Given the description of an element on the screen output the (x, y) to click on. 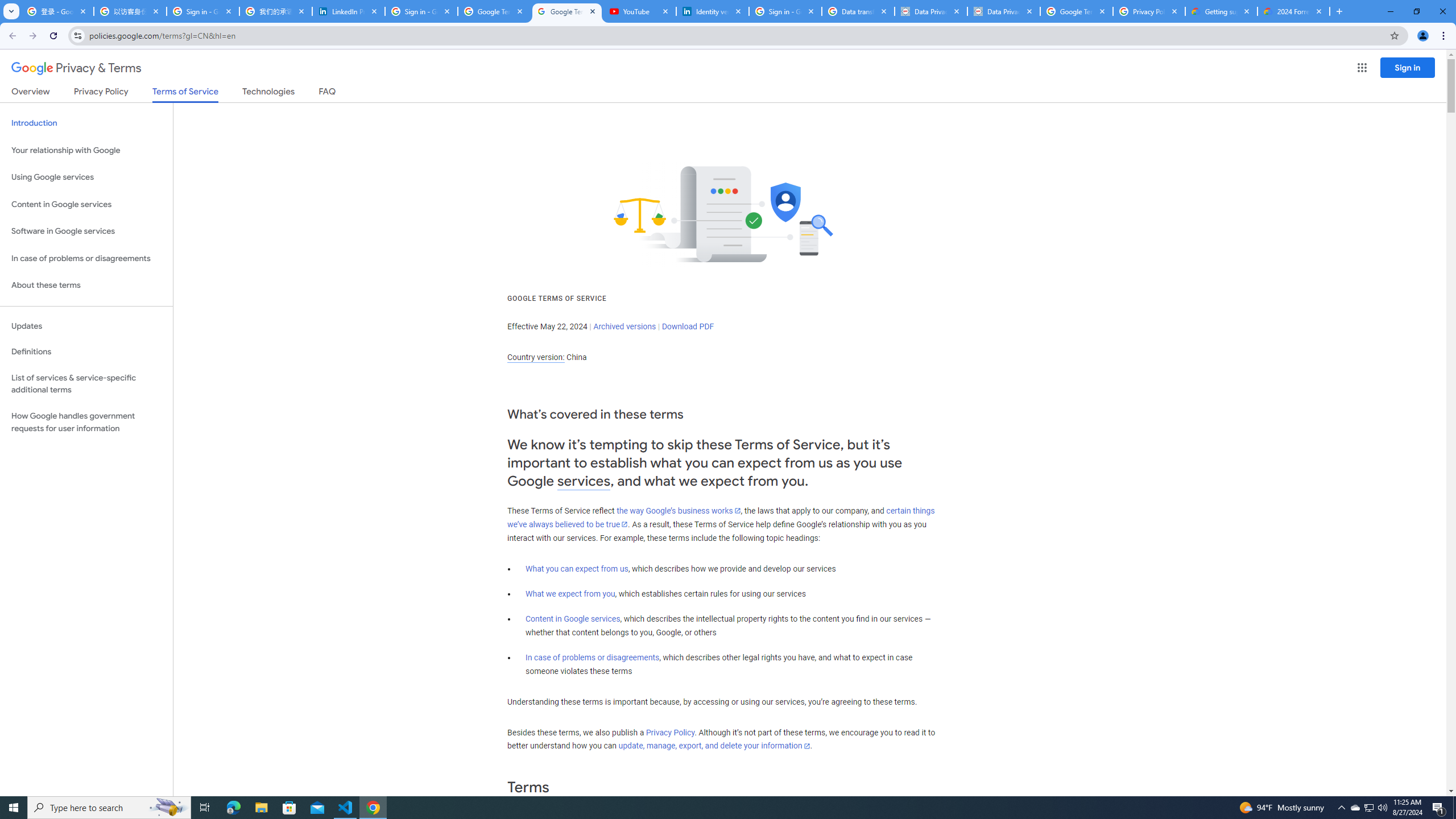
Sign in - Google Accounts (421, 11)
Software in Google services (86, 230)
Data Privacy Framework (930, 11)
About these terms (86, 284)
update, manage, export, and delete your information (714, 746)
Download PDF (687, 326)
List of services & service-specific additional terms (86, 383)
LinkedIn Privacy Policy (348, 11)
Country version: (535, 357)
Terms of Service (184, 94)
Identity verification via Persona | LinkedIn Help (712, 11)
